Given the description of an element on the screen output the (x, y) to click on. 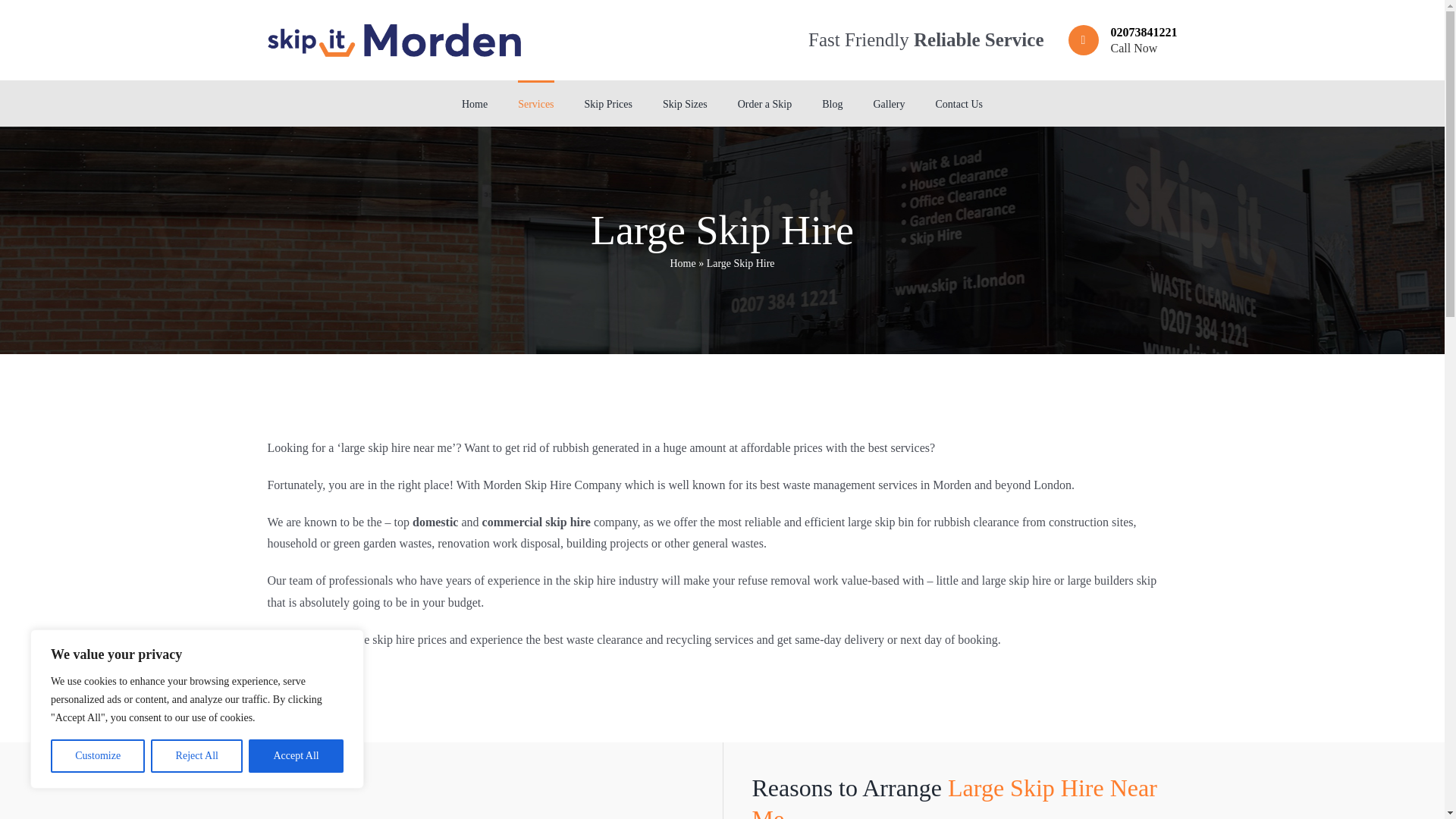
Customize (1121, 40)
Skip Sizes (97, 756)
Accept All (684, 103)
Reject All (295, 756)
Skip Prices (197, 756)
